Given the description of an element on the screen output the (x, y) to click on. 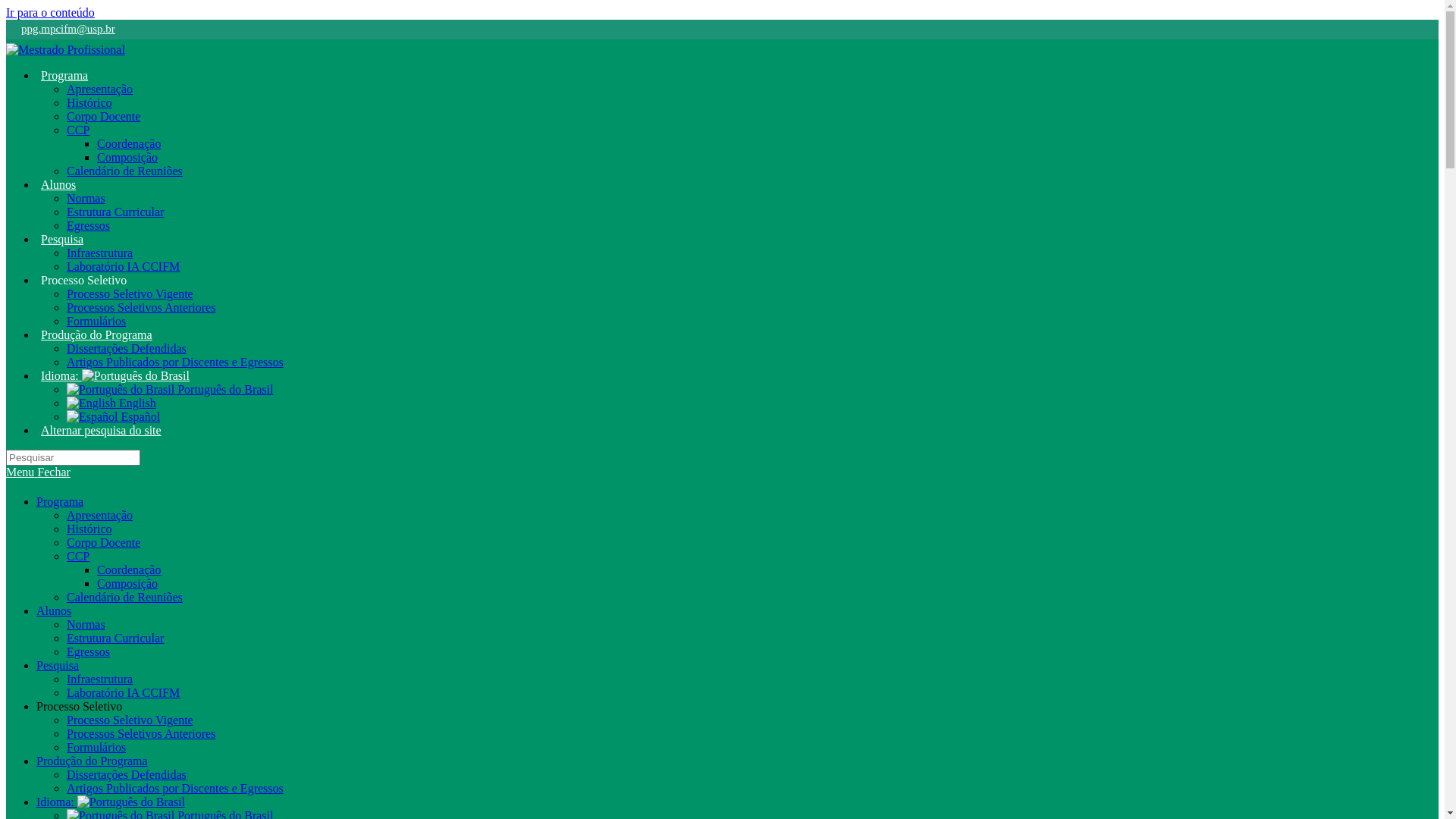
Programa Element type: text (59, 500)
Alternar pesquisa do site Element type: text (101, 429)
Egressos Element type: text (87, 224)
Pesquisa Element type: text (61, 238)
Corpo Docente Element type: text (103, 541)
Normas Element type: text (85, 197)
Processos Seletivos Anteriores Element type: text (140, 306)
Idioma:  Element type: text (115, 374)
Idioma:  Element type: text (110, 800)
Normas Element type: text (85, 623)
Infraestrutura Element type: text (99, 251)
Estrutura Curricular Element type: text (114, 210)
Artigos Publicados por Discentes e Egressos Element type: text (174, 787)
Processo Seletivo Element type: text (83, 279)
Processo Seletivo Element type: text (79, 705)
Estrutura Curricular Element type: text (114, 636)
Infraestrutura Element type: text (99, 677)
Alunos Element type: text (53, 609)
Pesquisa Element type: text (57, 664)
Artigos Publicados por Discentes e Egressos Element type: text (174, 360)
CCP Element type: text (77, 128)
Corpo Docente Element type: text (103, 115)
Processo Seletivo Vigente Element type: text (129, 718)
Alunos Element type: text (58, 183)
Programa Element type: text (64, 74)
Processo Seletivo Vigente Element type: text (129, 292)
CCP Element type: text (77, 555)
Egressos Element type: text (87, 650)
Menu Fechar Element type: text (38, 471)
 English Element type: text (111, 401)
Processos Seletivos Anteriores Element type: text (140, 732)
ppg.mpcifm@usp.br Element type: text (60, 28)
